Given the description of an element on the screen output the (x, y) to click on. 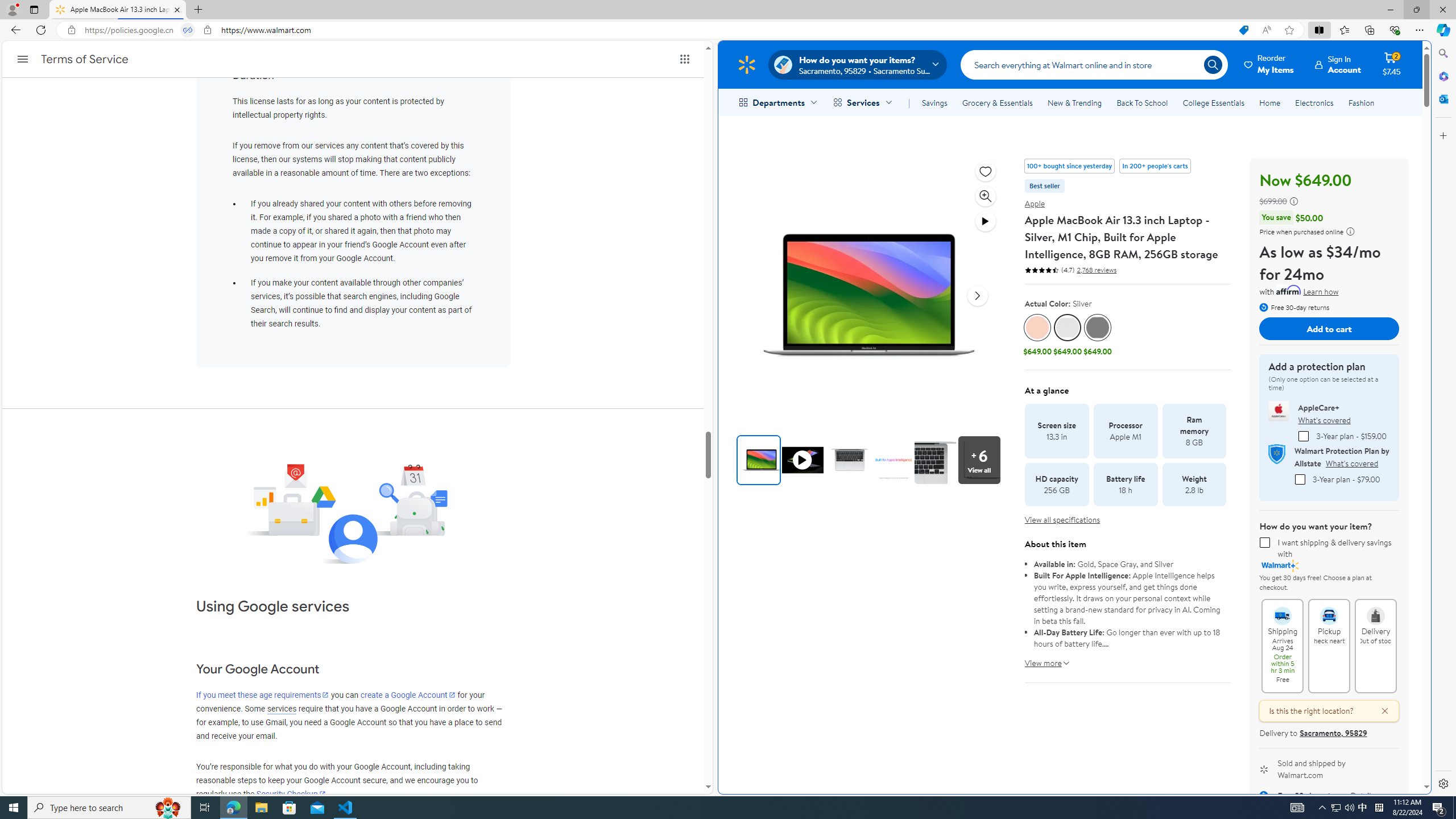
Electronics (1314, 102)
Gold (1037, 327)
Sign InAccount (1338, 64)
View all specifications (1062, 520)
This site has coupons! Shopping in Microsoft Edge, 7 (1243, 29)
learn more about strikethrough prices (1294, 201)
Search icon (1212, 64)
View video (985, 221)
